Given the description of an element on the screen output the (x, y) to click on. 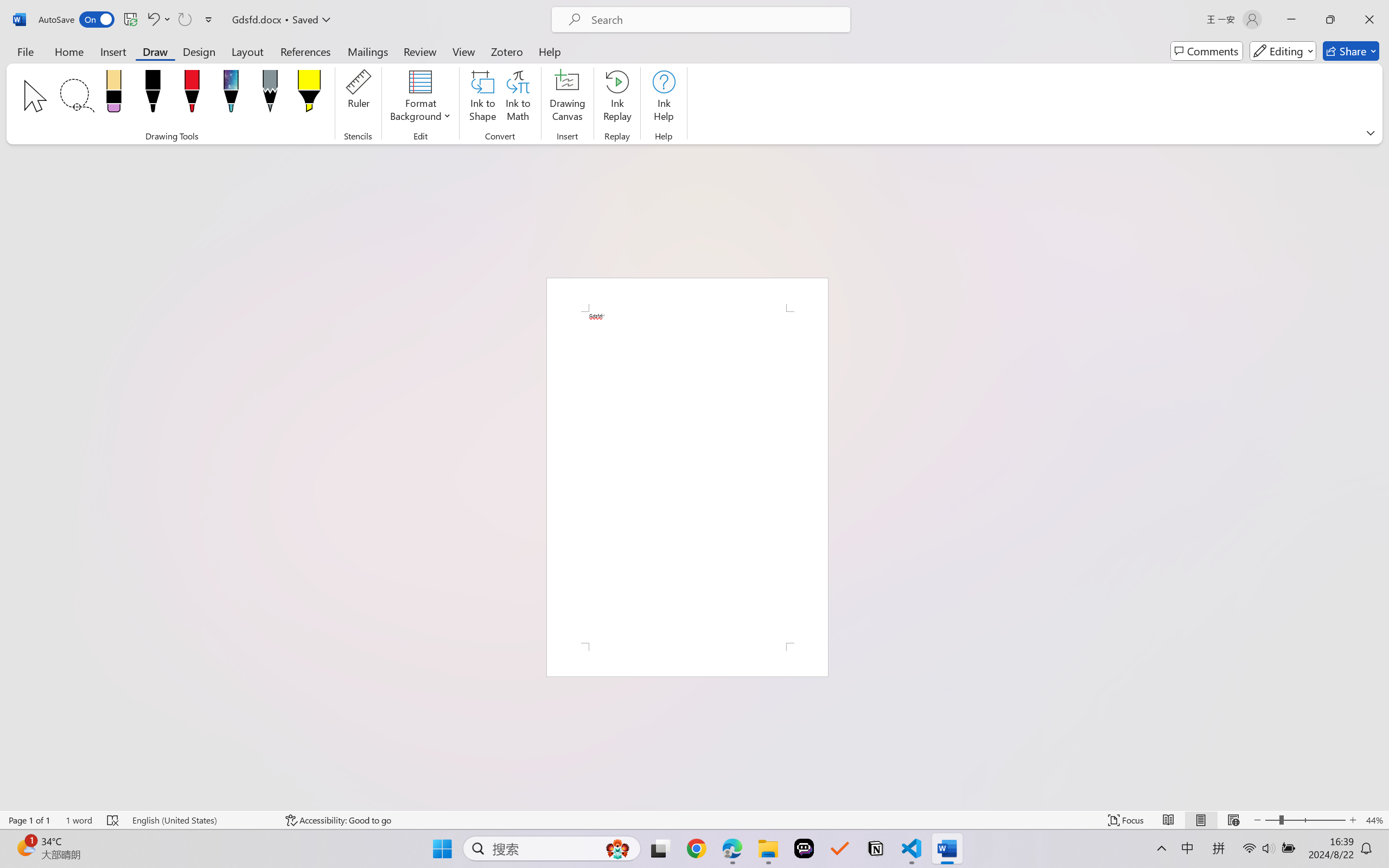
Can't Repeat (184, 19)
Class: MsoCommandBar (694, 819)
Pen: Black, 0.5 mm (152, 94)
Ink to Math (517, 97)
Ink Replay (617, 97)
